Given the description of an element on the screen output the (x, y) to click on. 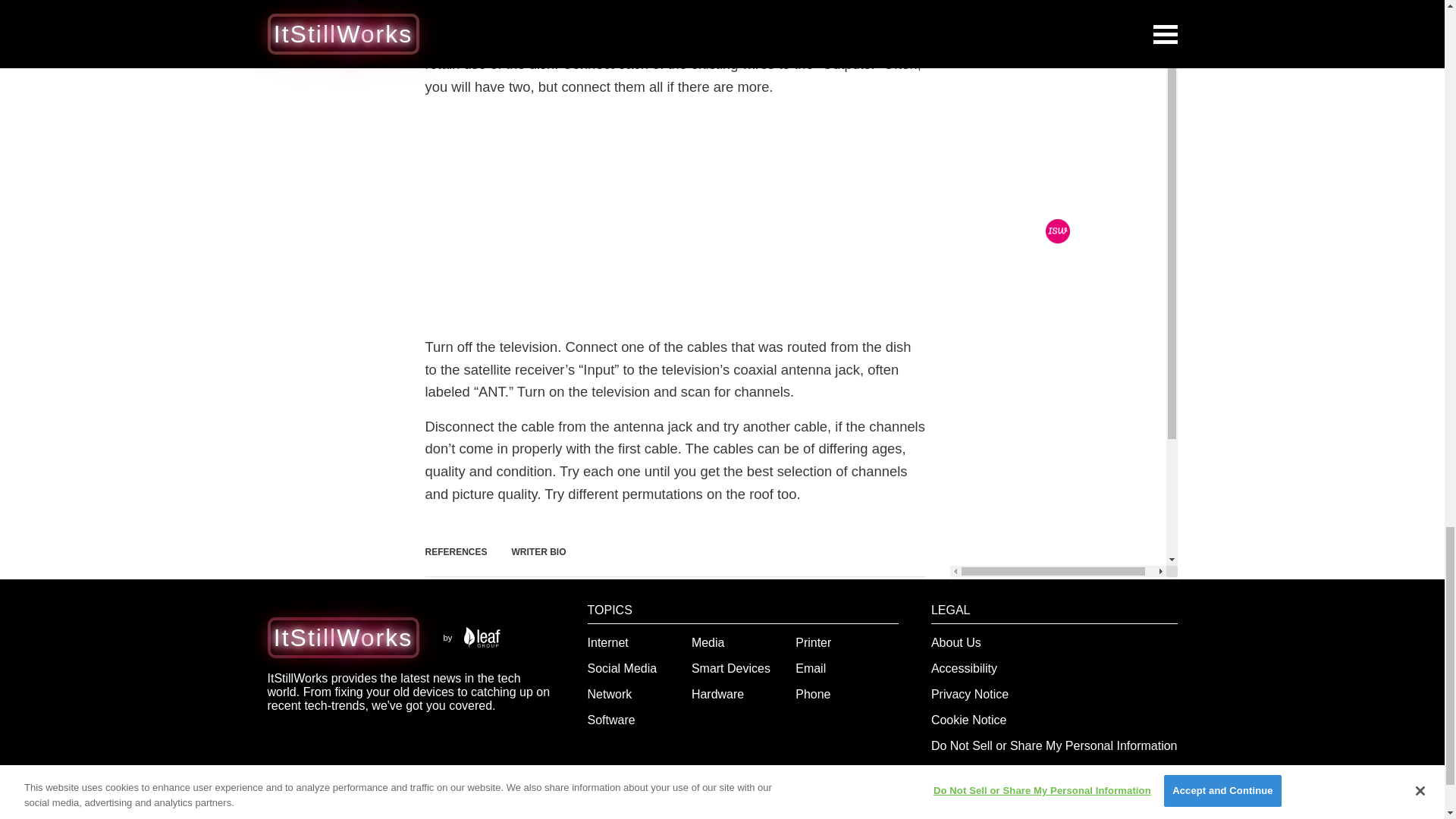
Terms of Use (967, 797)
Printer (812, 642)
ItStillWorks (342, 637)
Internet (608, 642)
Do Not Sell or Share My Personal Information (1054, 745)
Email (809, 667)
3rd party ad content (674, 217)
Media (708, 642)
Software (611, 719)
California Notice of Collection (1010, 771)
Hardware (717, 694)
Privacy Notice (970, 694)
Network (609, 694)
Accessibility (964, 667)
Social Media (623, 667)
